Given the description of an element on the screen output the (x, y) to click on. 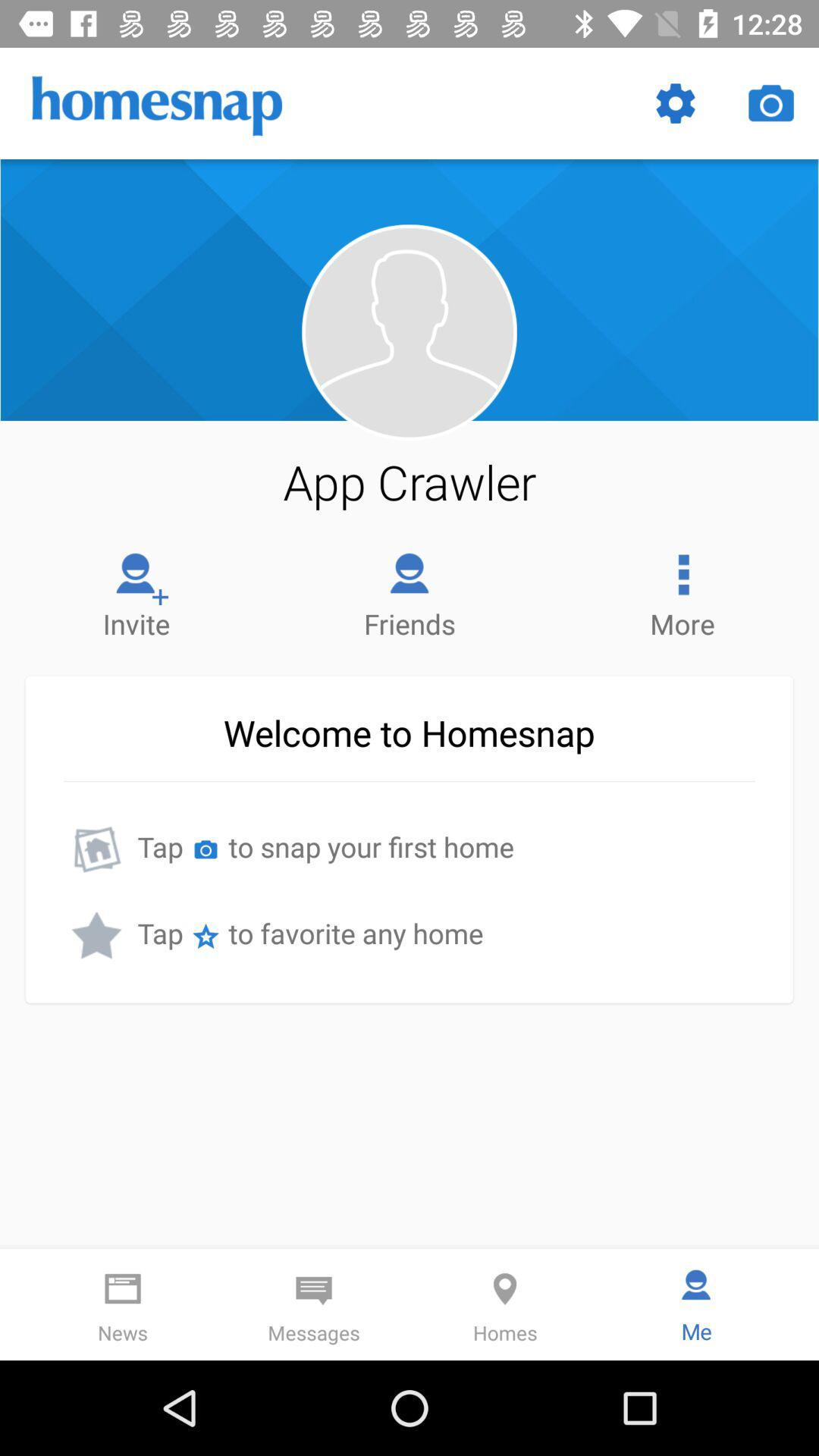
flip until the invite icon (136, 591)
